Given the description of an element on the screen output the (x, y) to click on. 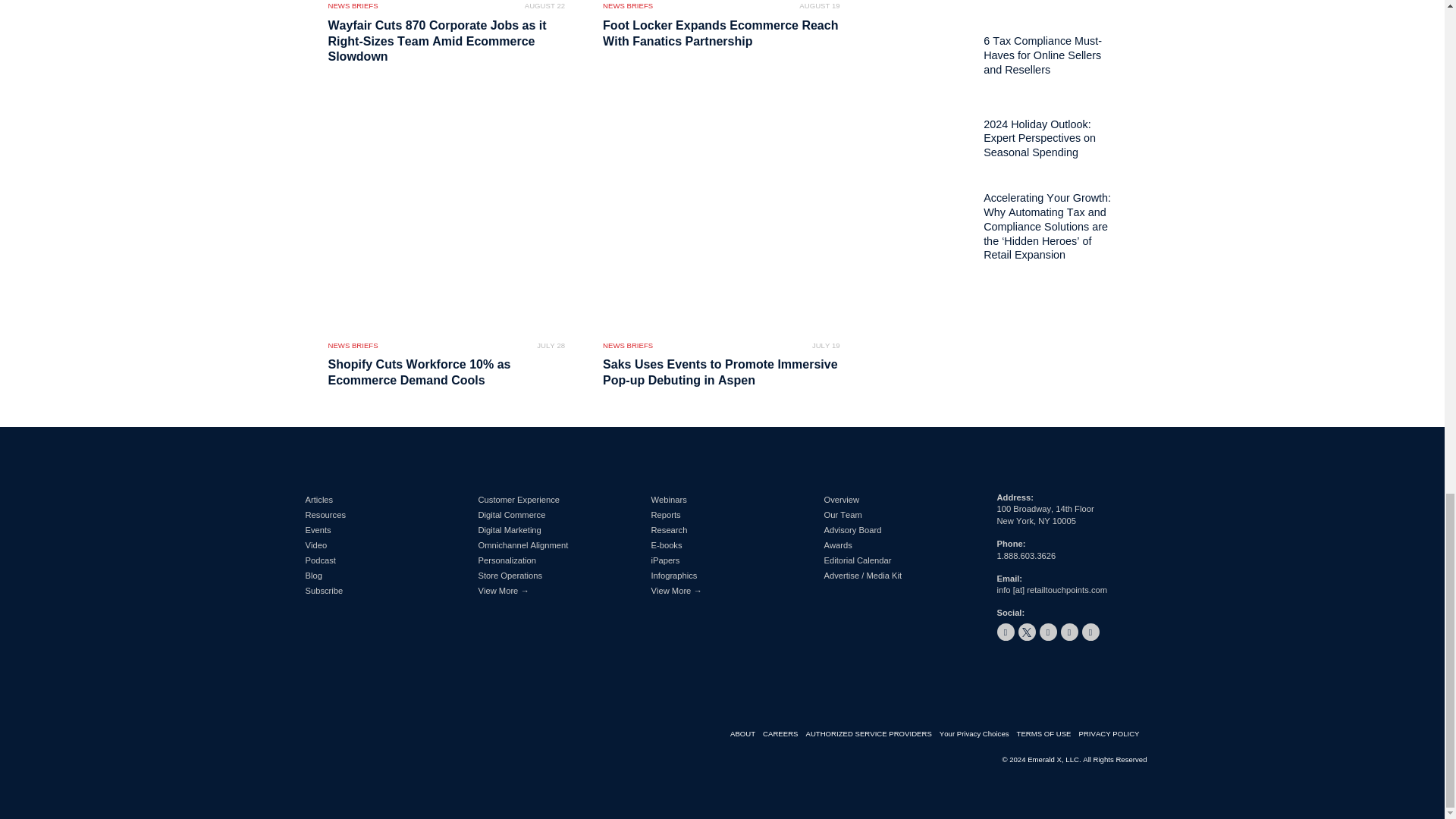
privacy-policy (1112, 733)
terms-of-use (1047, 733)
authorized-service-providers (872, 733)
about (746, 733)
careers (783, 733)
your-privacy-choices (977, 733)
